Given the description of an element on the screen output the (x, y) to click on. 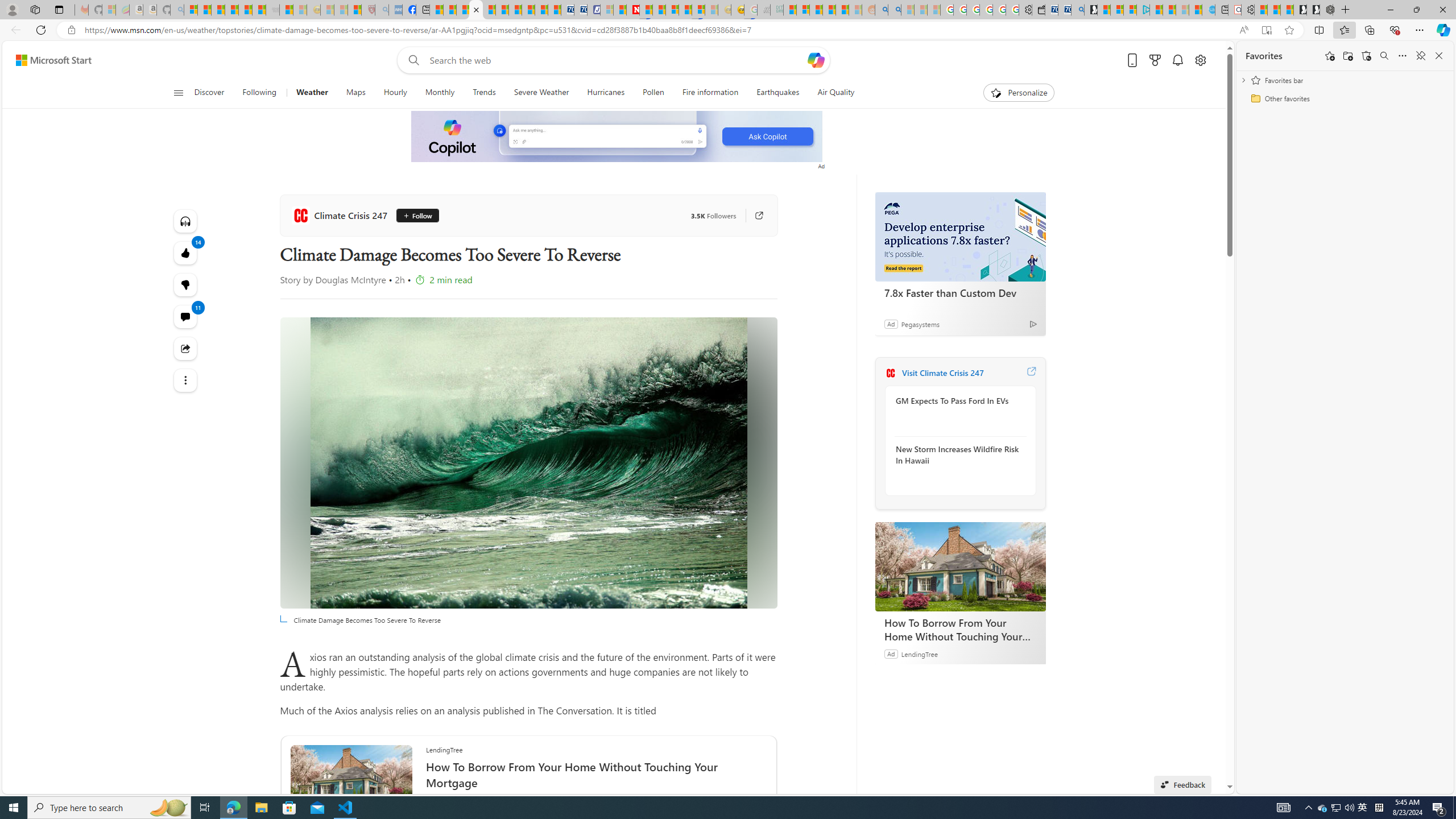
Combat Siege - Sleeping (271, 9)
Trends (484, 92)
Severe Weather (541, 92)
Maps (355, 92)
Pollen (652, 92)
